Given the description of an element on the screen output the (x, y) to click on. 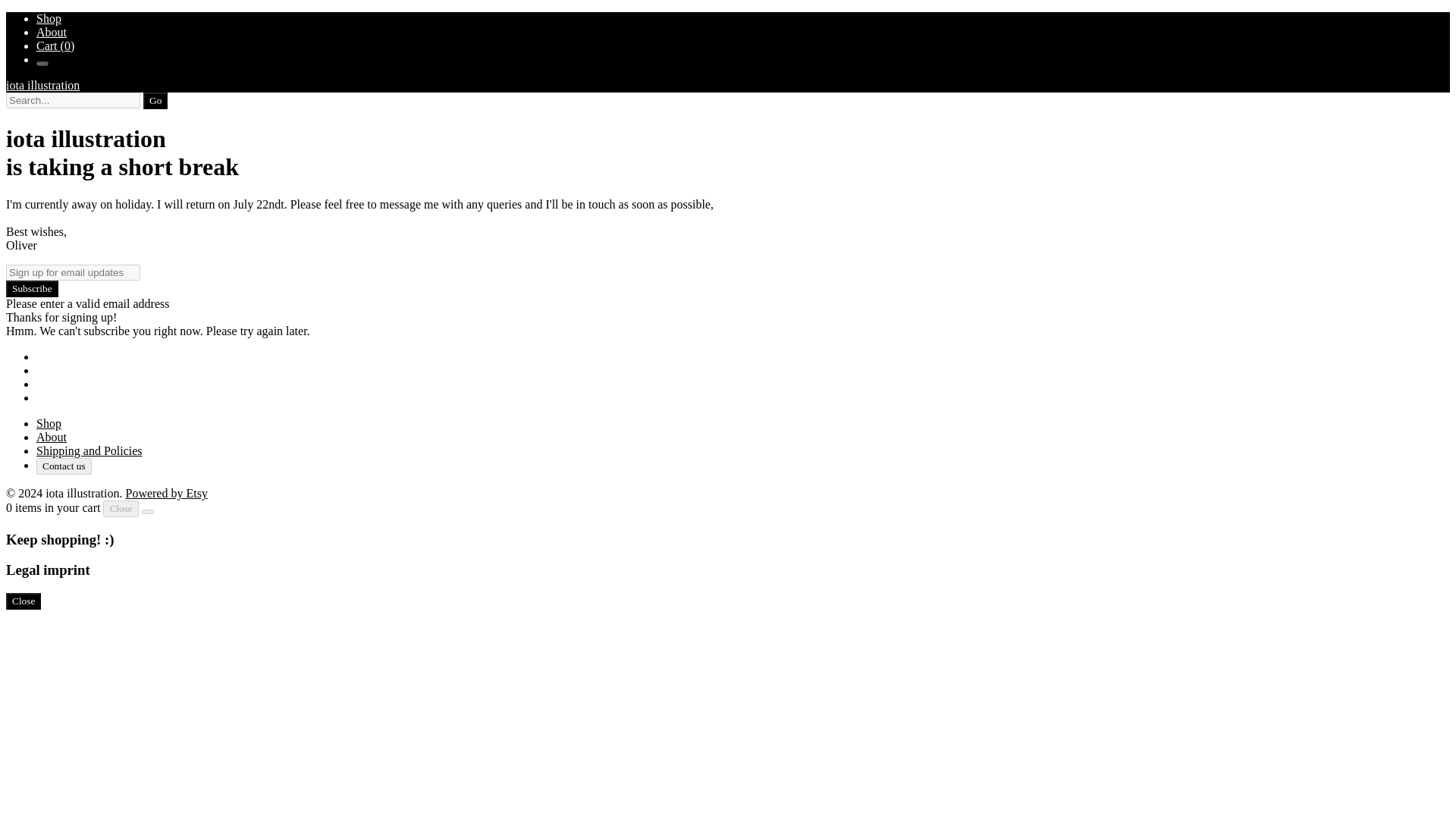
Close (120, 508)
Shop (48, 18)
Shop (48, 422)
Shipping and Policies (89, 450)
Subscribe (31, 288)
About (51, 31)
Powered by Etsy (165, 492)
Go (154, 100)
Contact us (63, 466)
Go (154, 100)
About (51, 436)
Subscribe (31, 288)
